Given the description of an element on the screen output the (x, y) to click on. 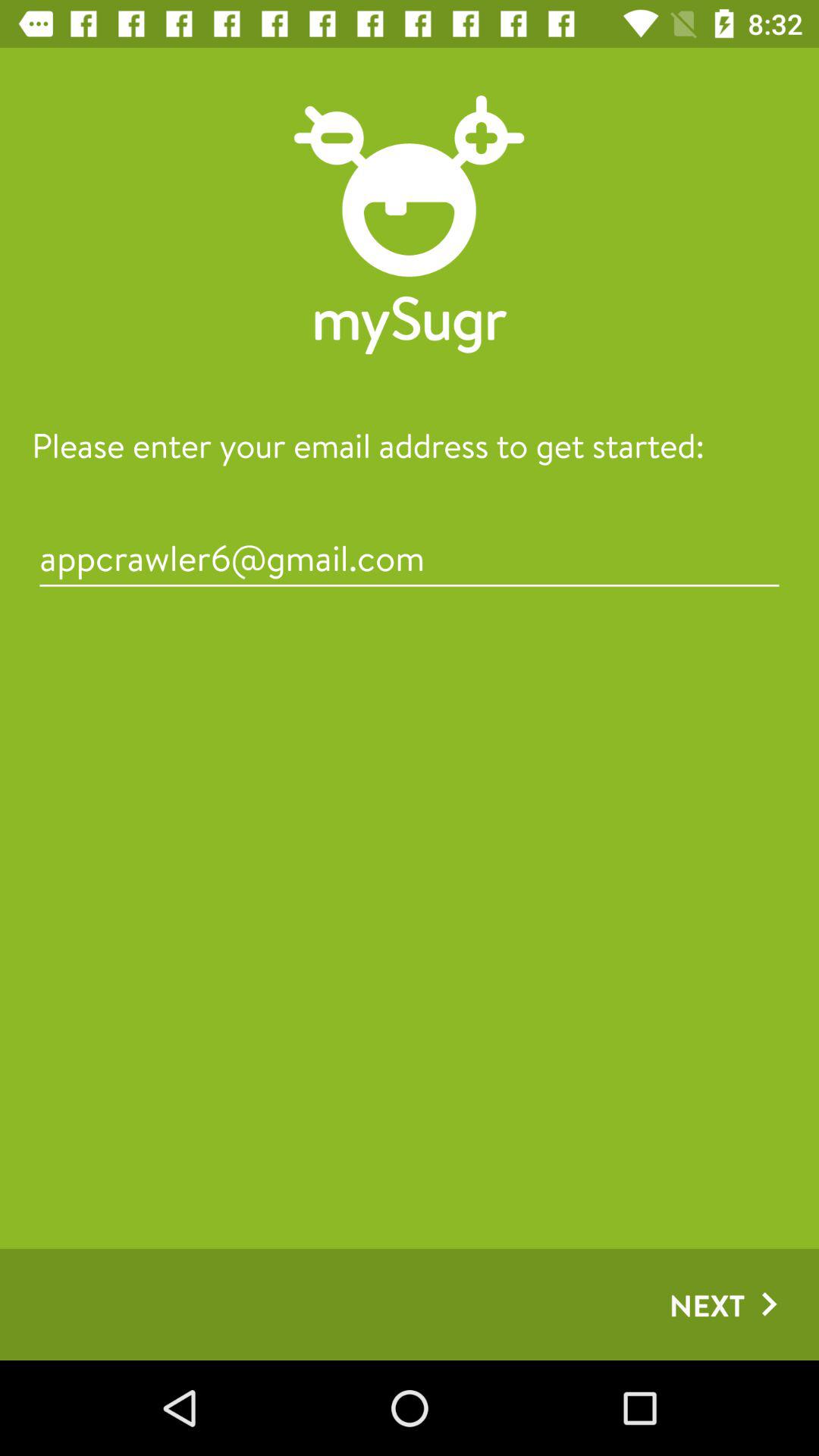
open appcrawler6@gmail.com (409, 557)
